Given the description of an element on the screen output the (x, y) to click on. 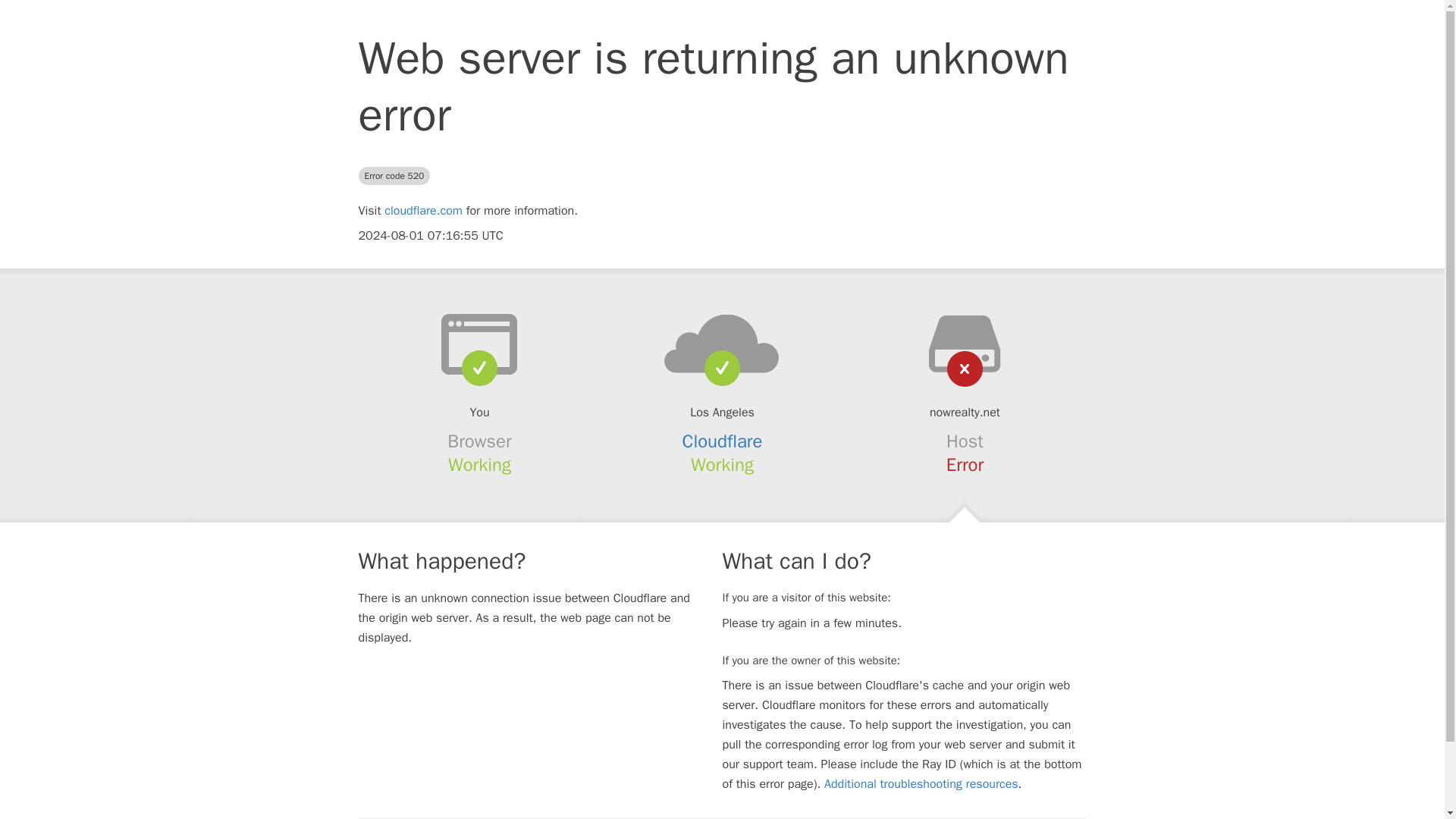
Cloudflare (722, 440)
Additional troubleshooting resources (920, 783)
cloudflare.com (423, 210)
